Given the description of an element on the screen output the (x, y) to click on. 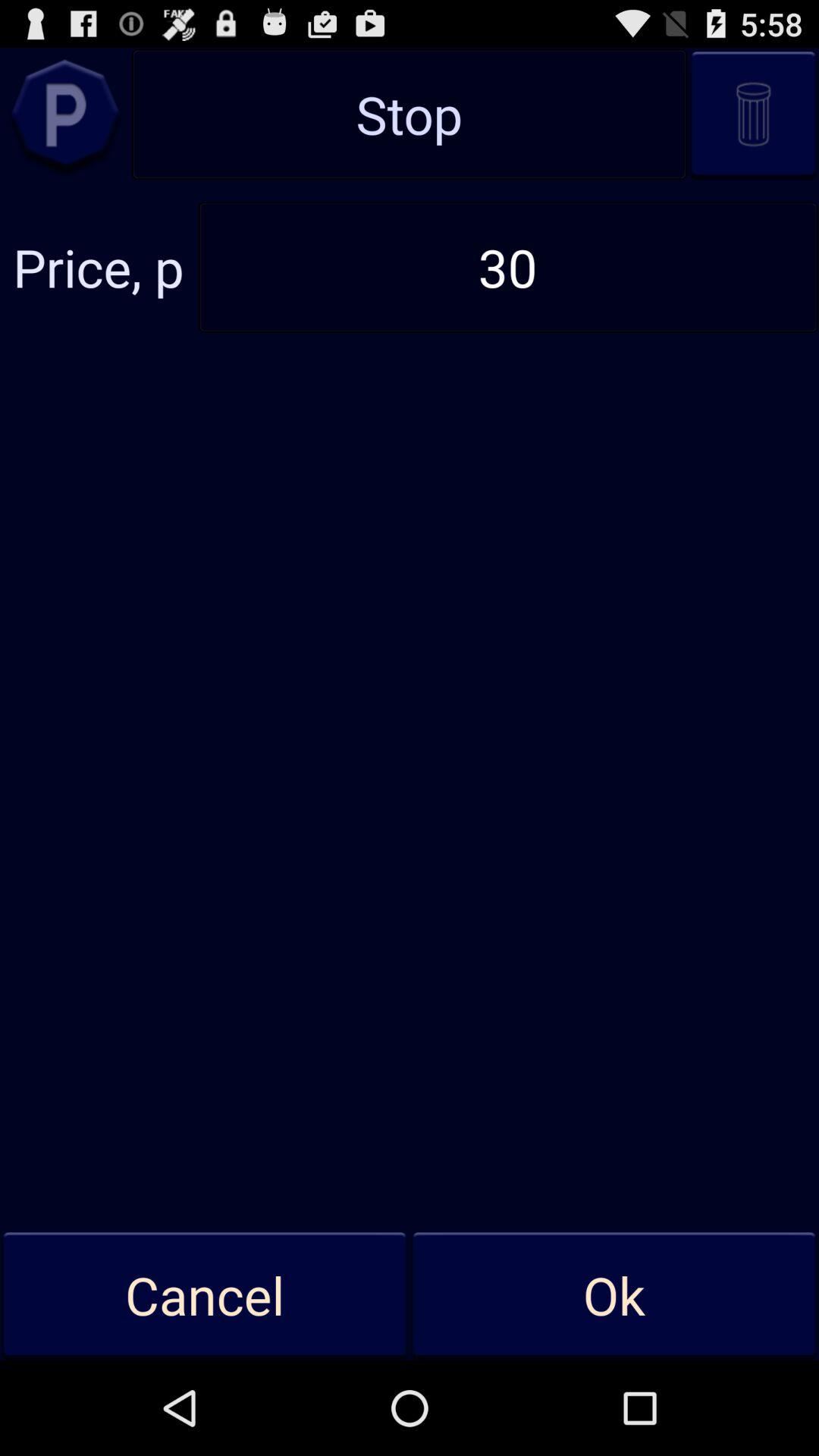
recycle bin icon (753, 113)
